Given the description of an element on the screen output the (x, y) to click on. 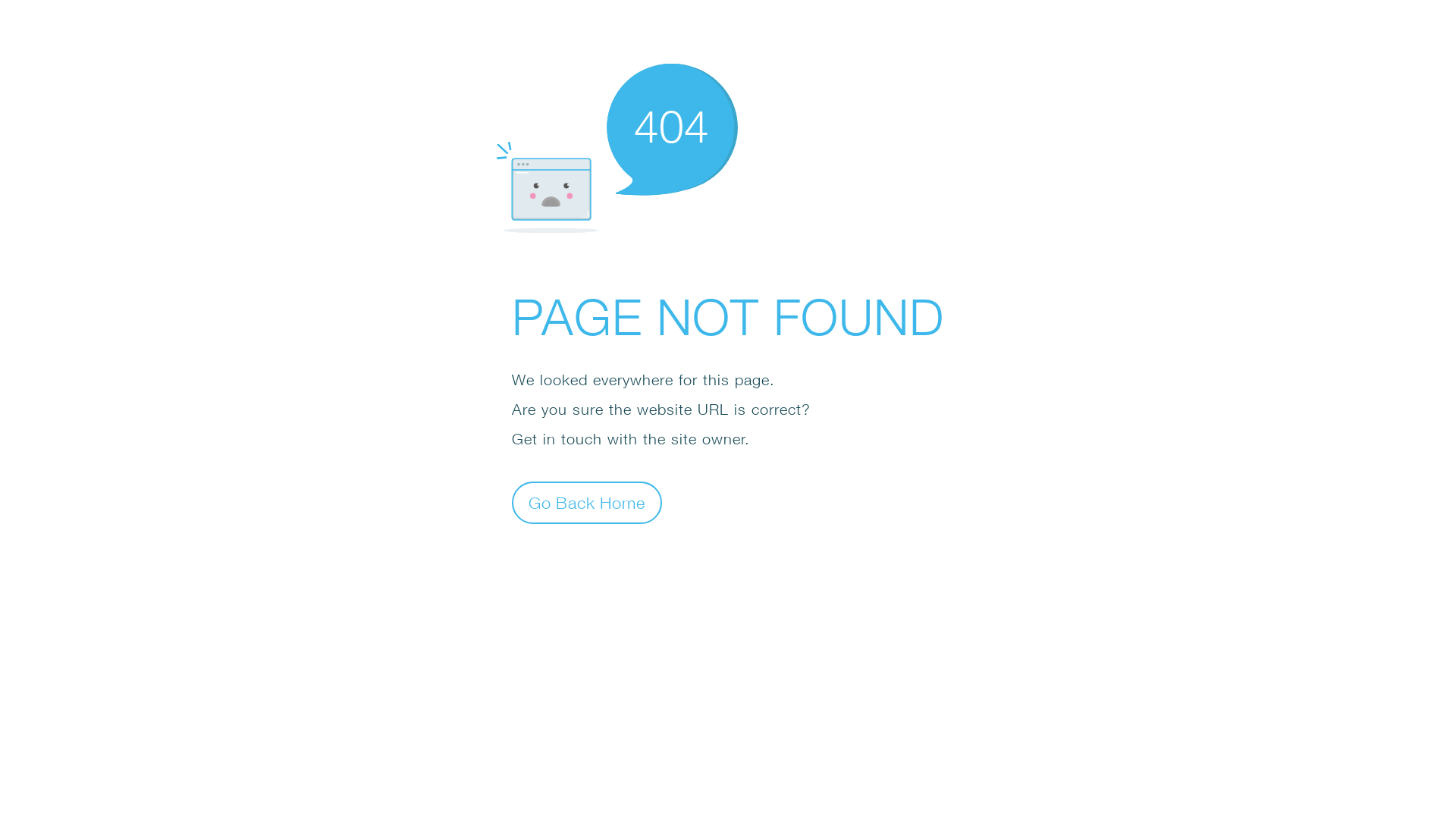
Go Back Home Element type: text (586, 502)
